Given the description of an element on the screen output the (x, y) to click on. 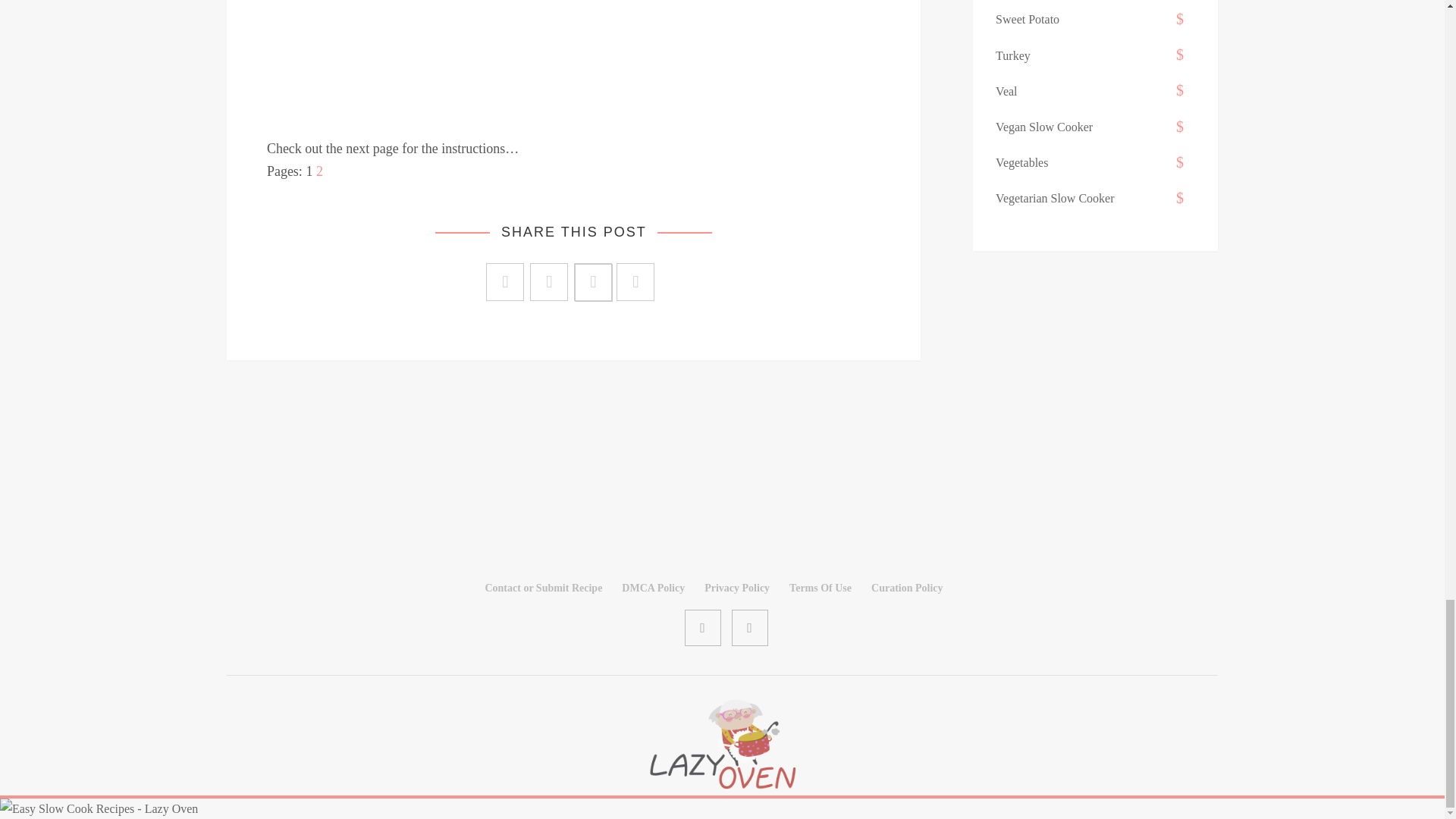
Email this article (634, 281)
Share to Twitter (548, 281)
Share to Facebook (505, 281)
Share to Pinterest (593, 282)
